Given the description of an element on the screen output the (x, y) to click on. 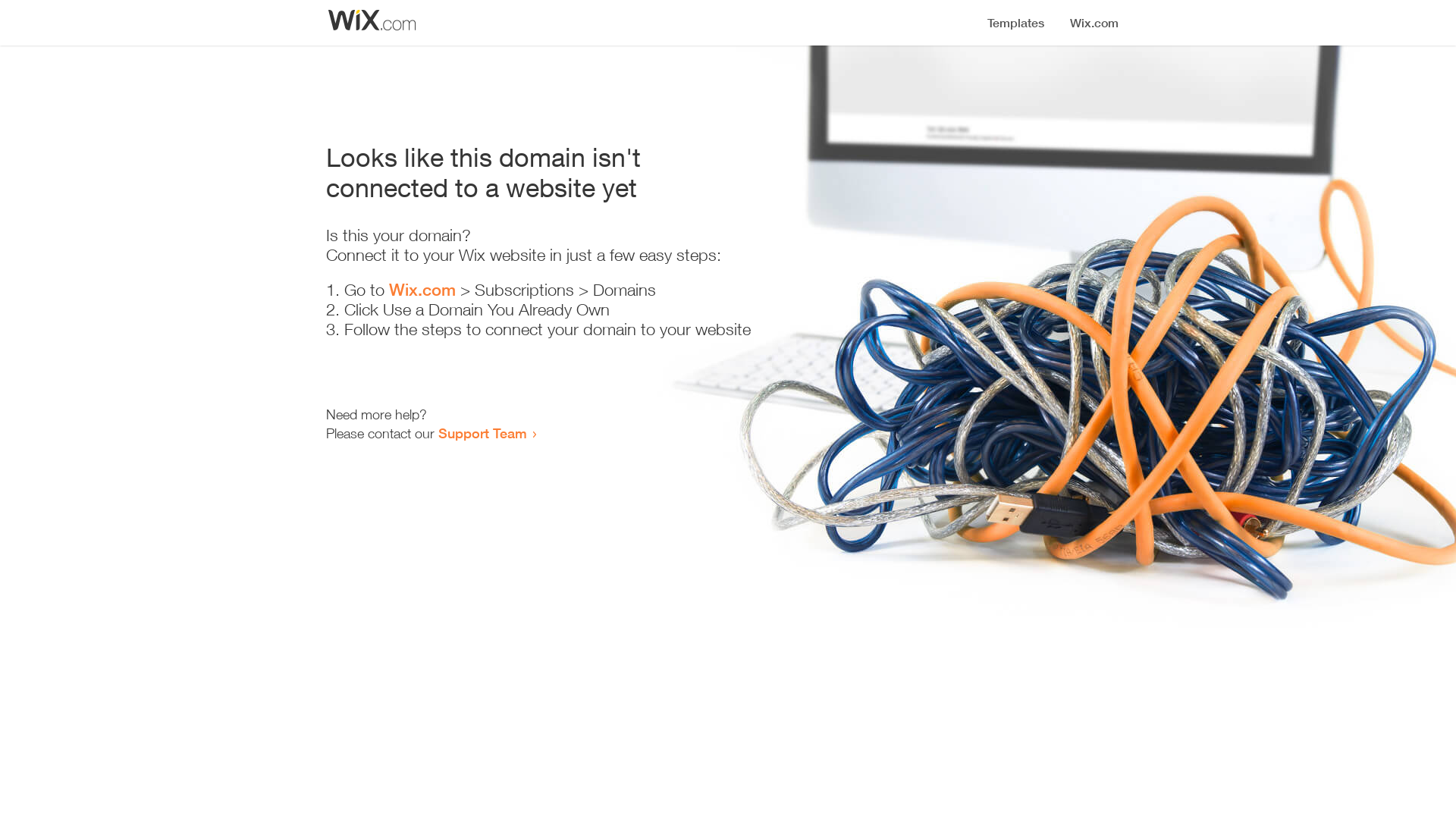
Wix.com Element type: text (422, 289)
Support Team Element type: text (482, 432)
